Given the description of an element on the screen output the (x, y) to click on. 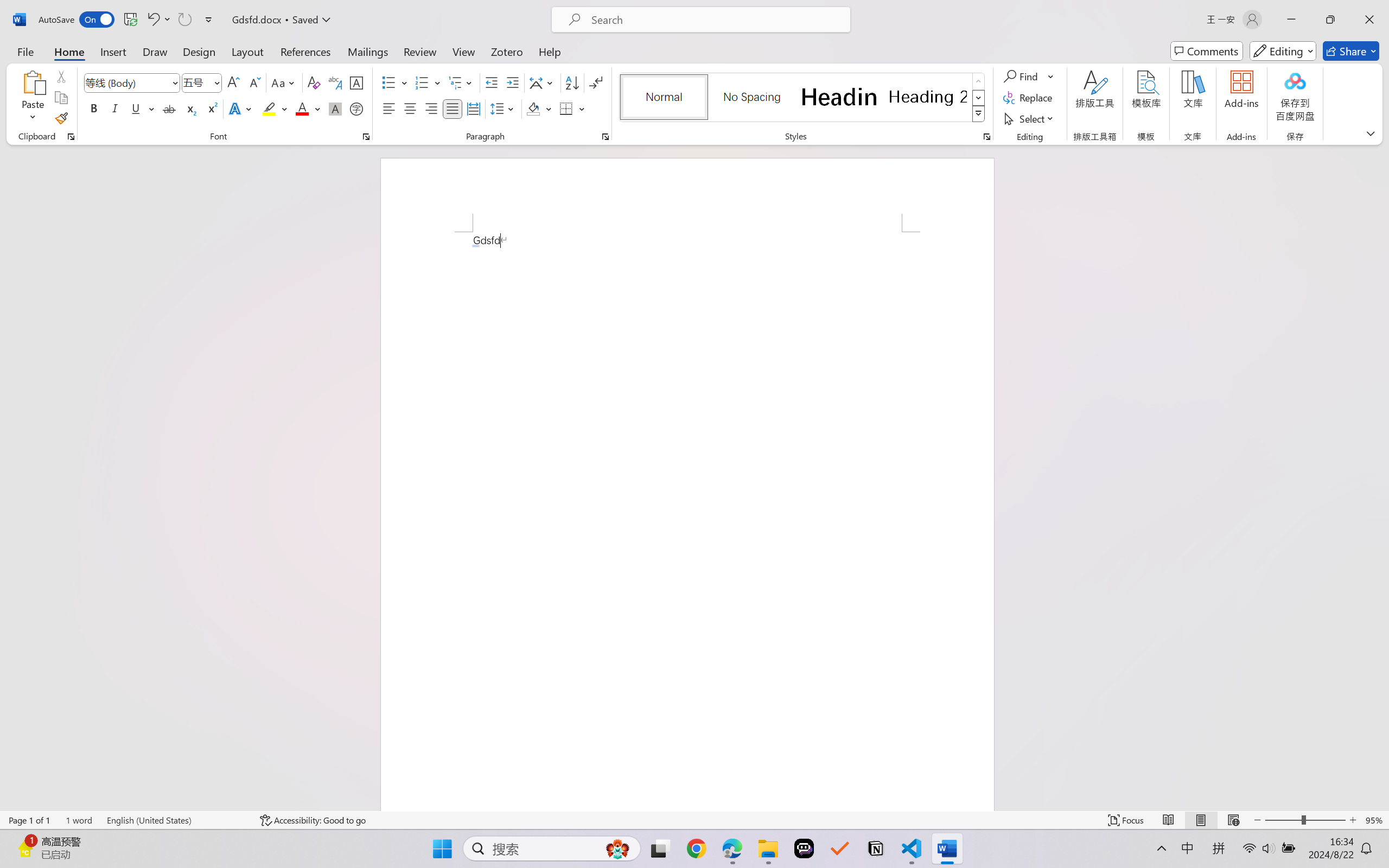
Distributed (473, 108)
Styles... (986, 136)
Bold (94, 108)
Can't Repeat (184, 19)
Grow Font (233, 82)
